Given the description of an element on the screen output the (x, y) to click on. 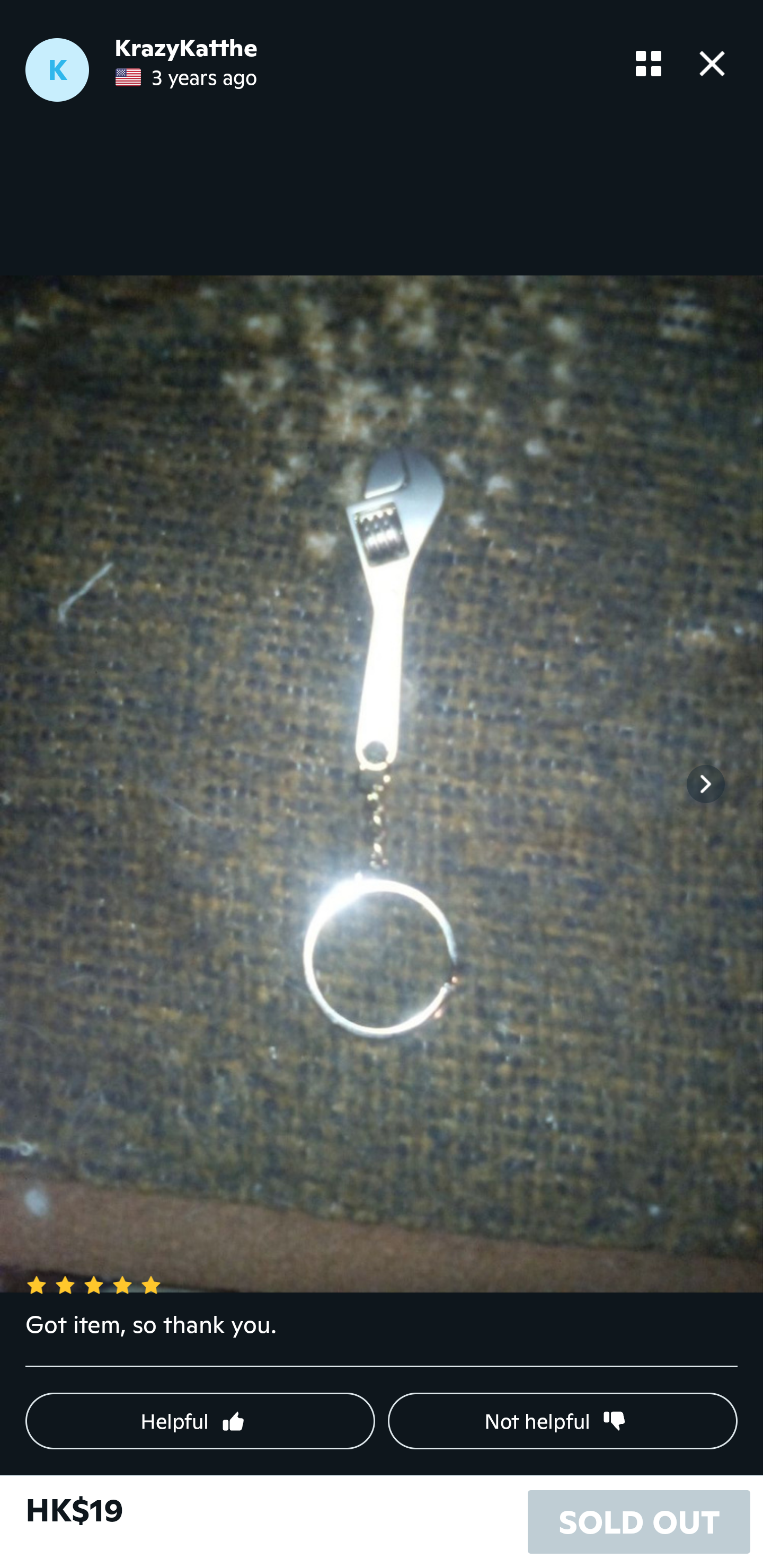
KrazyKatthe (185, 47)
K (57, 69)
3 years ago (185, 77)
Got item, so thank you. (381, 1336)
Helpful (200, 1420)
Not helpful (562, 1420)
